Given the description of an element on the screen output the (x, y) to click on. 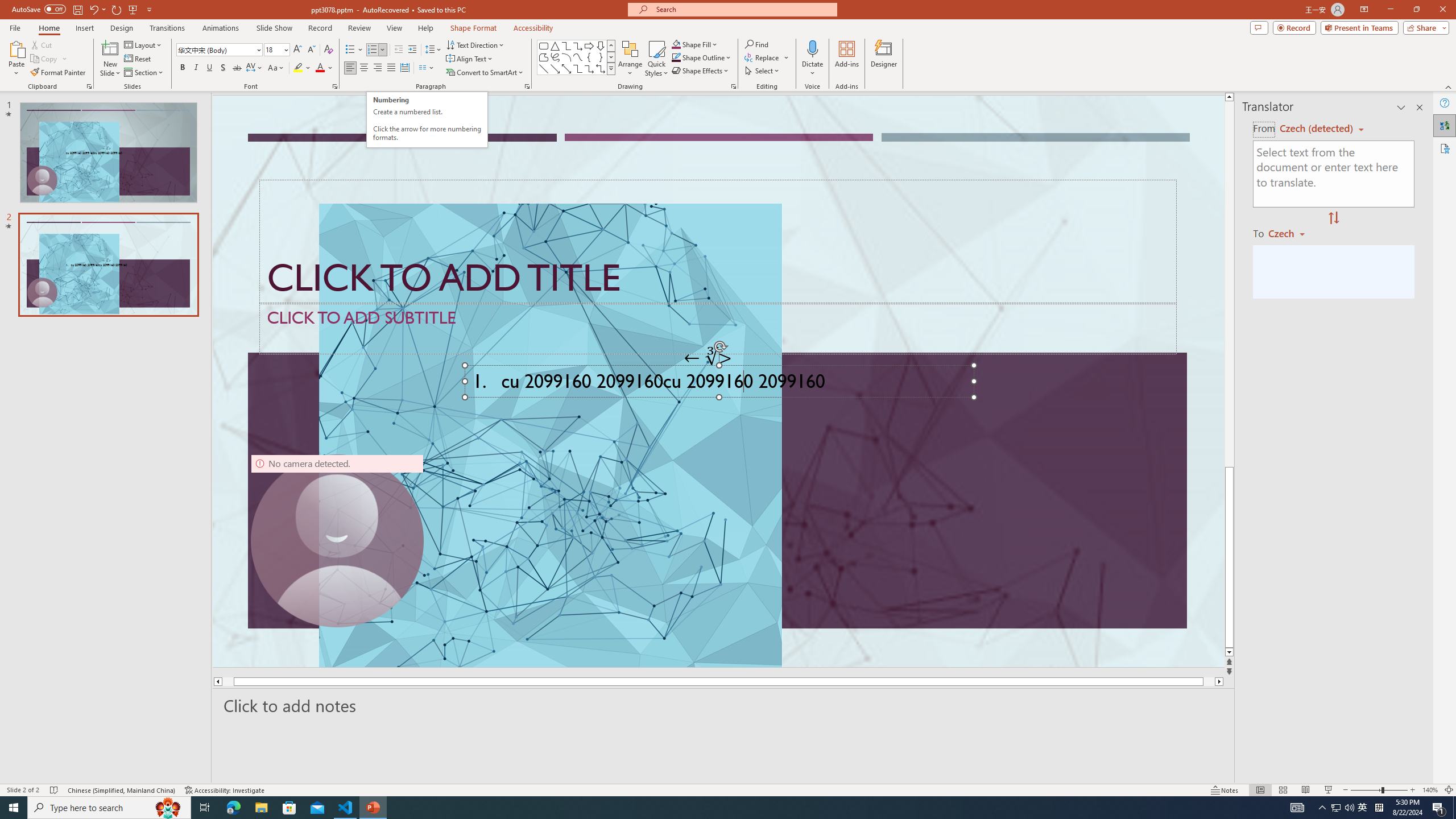
Convert to SmartArt (485, 72)
Arc (566, 57)
Increase Indent (412, 49)
Shape Fill Dark Green, Accent 2 (675, 44)
Connector: Elbow (577, 68)
Designer (883, 58)
Columns (426, 67)
Distributed (404, 67)
Text Highlight Color (302, 67)
Font... (334, 85)
